Given the description of an element on the screen output the (x, y) to click on. 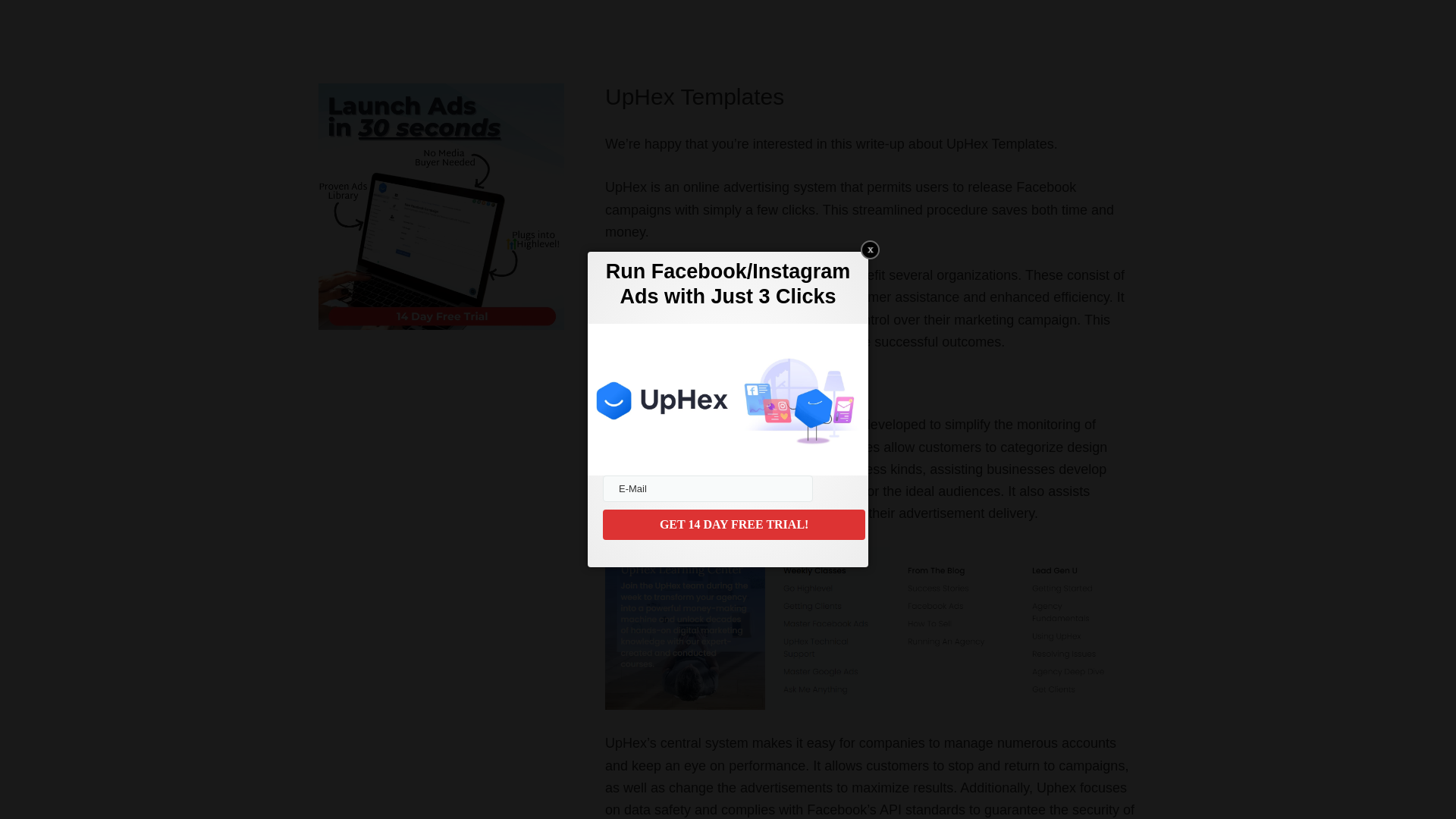
GET 14 DAY FREE TRIAL! (733, 524)
GET 14 DAY FREE TRIAL! (733, 524)
